Given the description of an element on the screen output the (x, y) to click on. 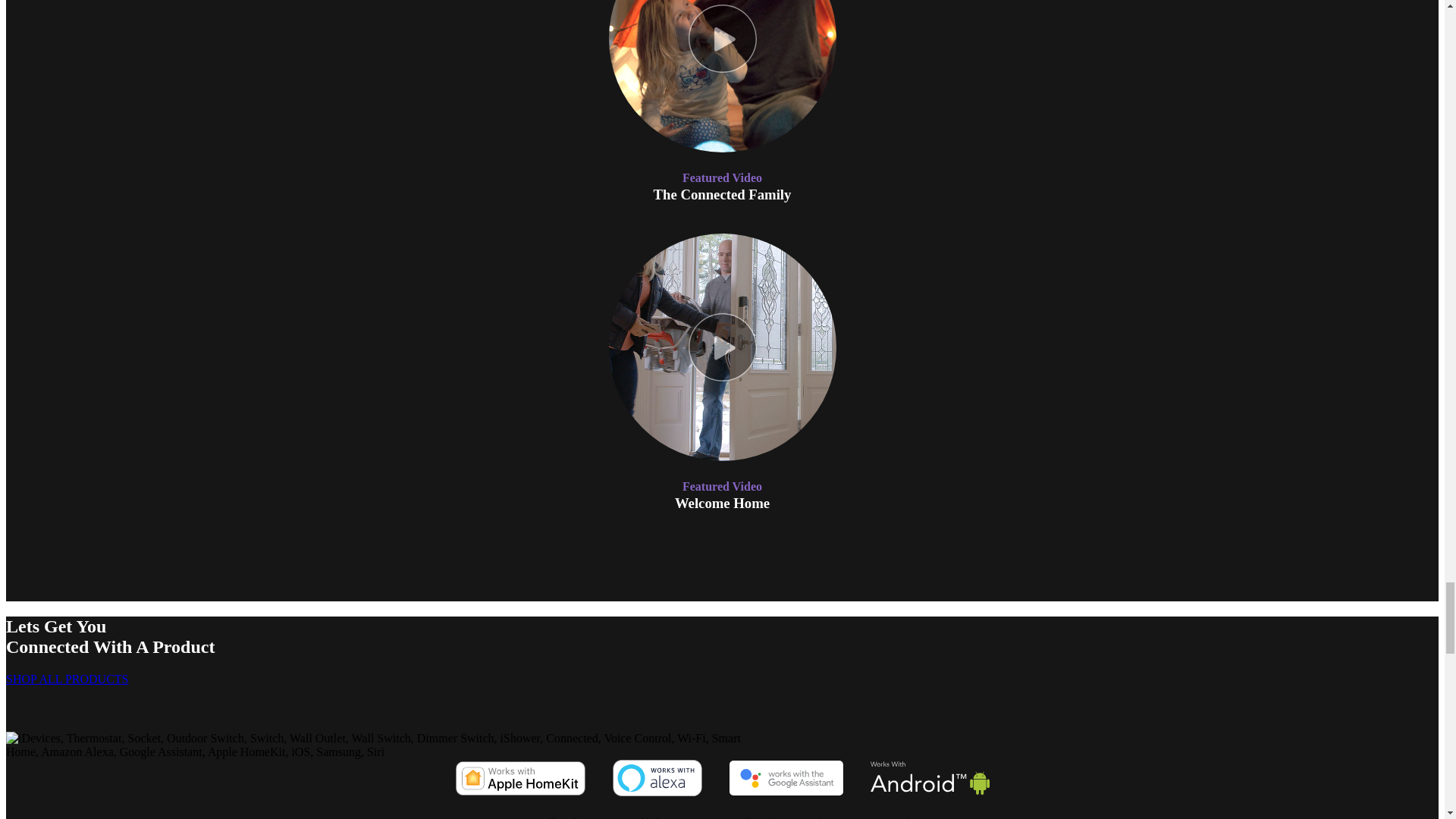
SHOP ALL PRODUCTS (67, 678)
